Given the description of an element on the screen output the (x, y) to click on. 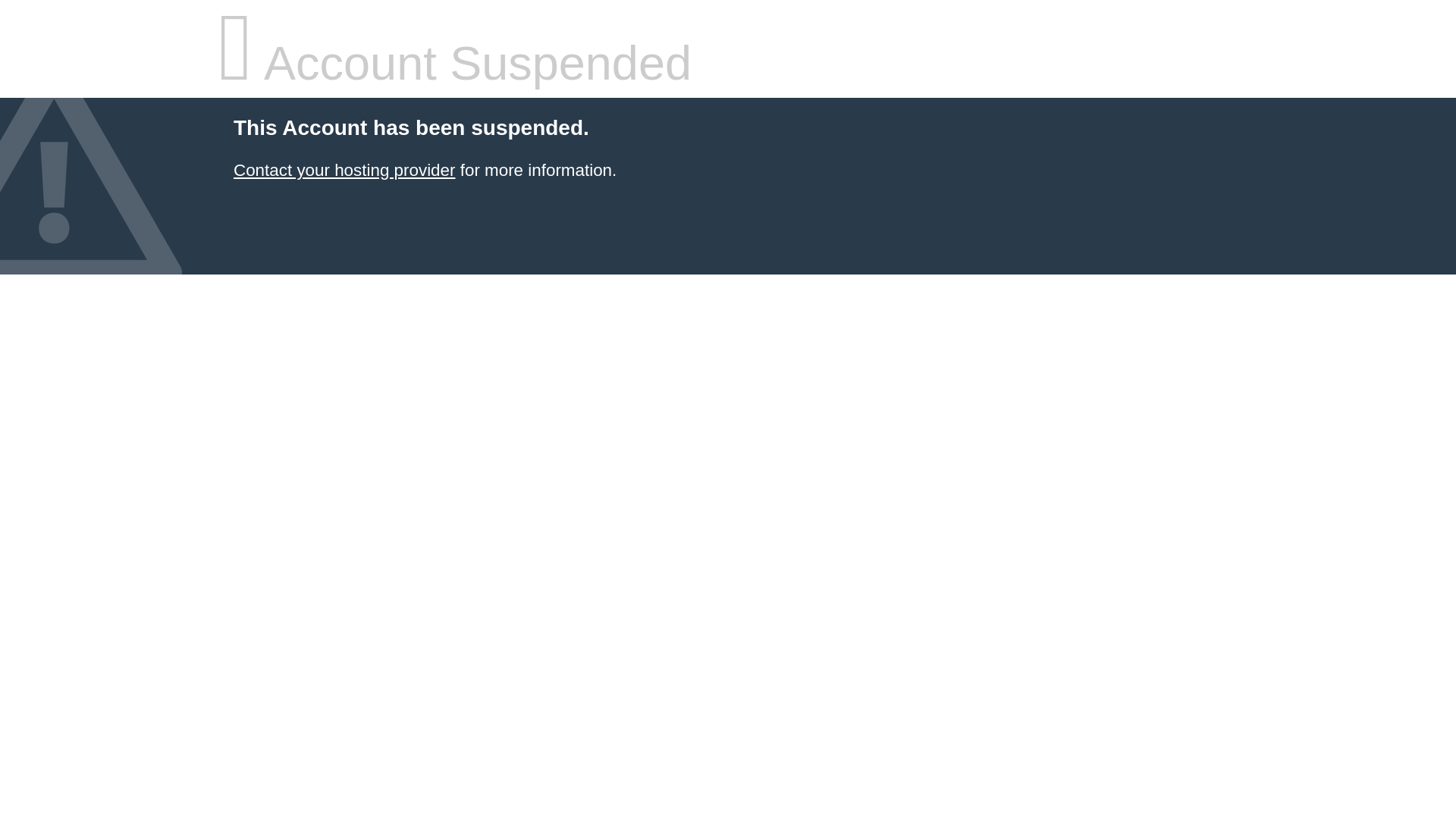
Contact your hosting provider (343, 169)
